Given the description of an element on the screen output the (x, y) to click on. 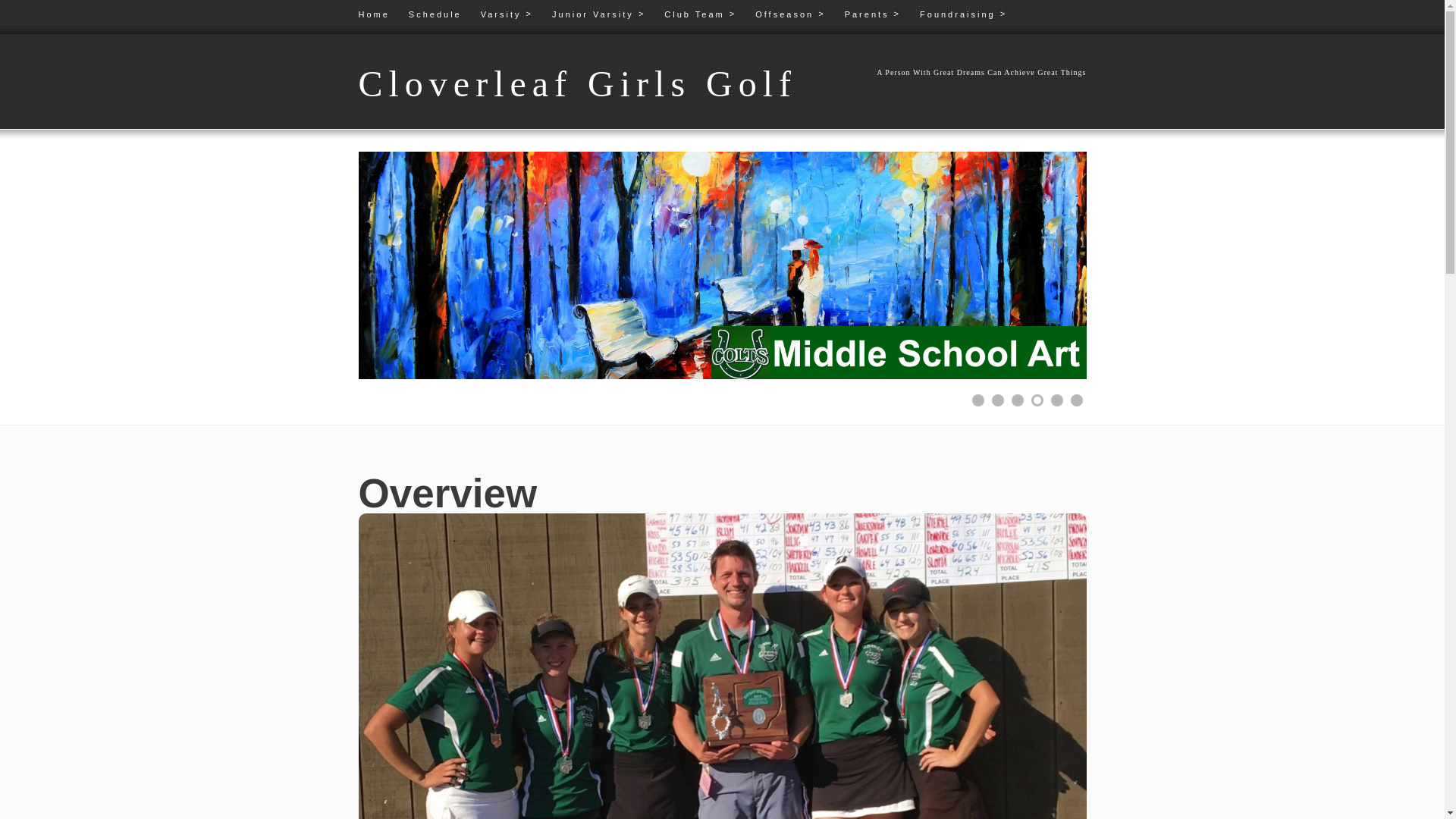
Schedule (444, 14)
Home (382, 14)
